Given the description of an element on the screen output the (x, y) to click on. 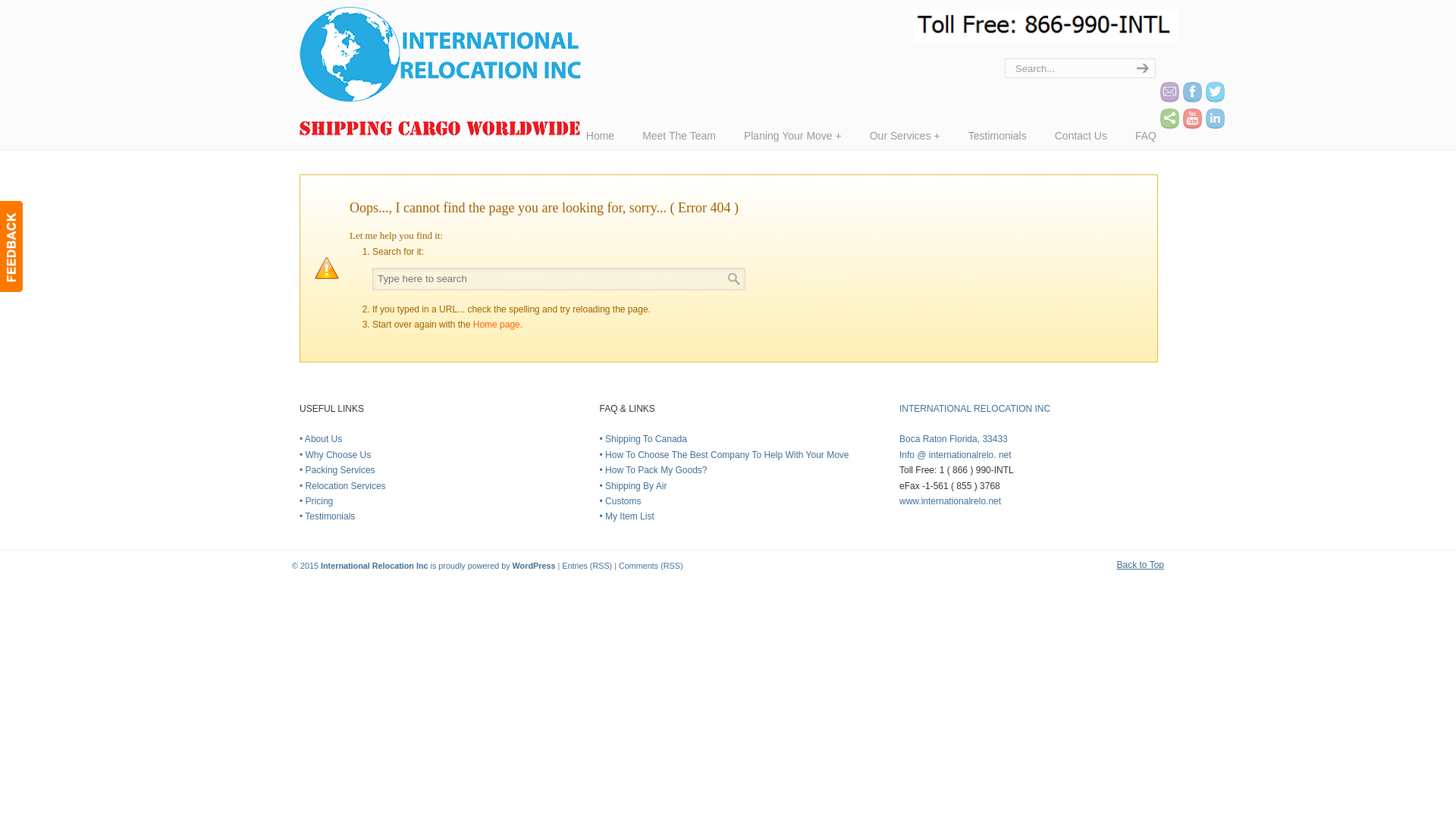
Contact Us (1080, 135)
YouTube (1192, 118)
Follow by Email (1169, 91)
Twitter (1214, 91)
SHARE (1169, 118)
Search (733, 278)
FAQ (1145, 135)
LinkedIn (1214, 118)
Testimonials (997, 135)
Search (733, 278)
Meet The Team (678, 135)
Facebook (1192, 91)
Home page (496, 324)
